Given the description of an element on the screen output the (x, y) to click on. 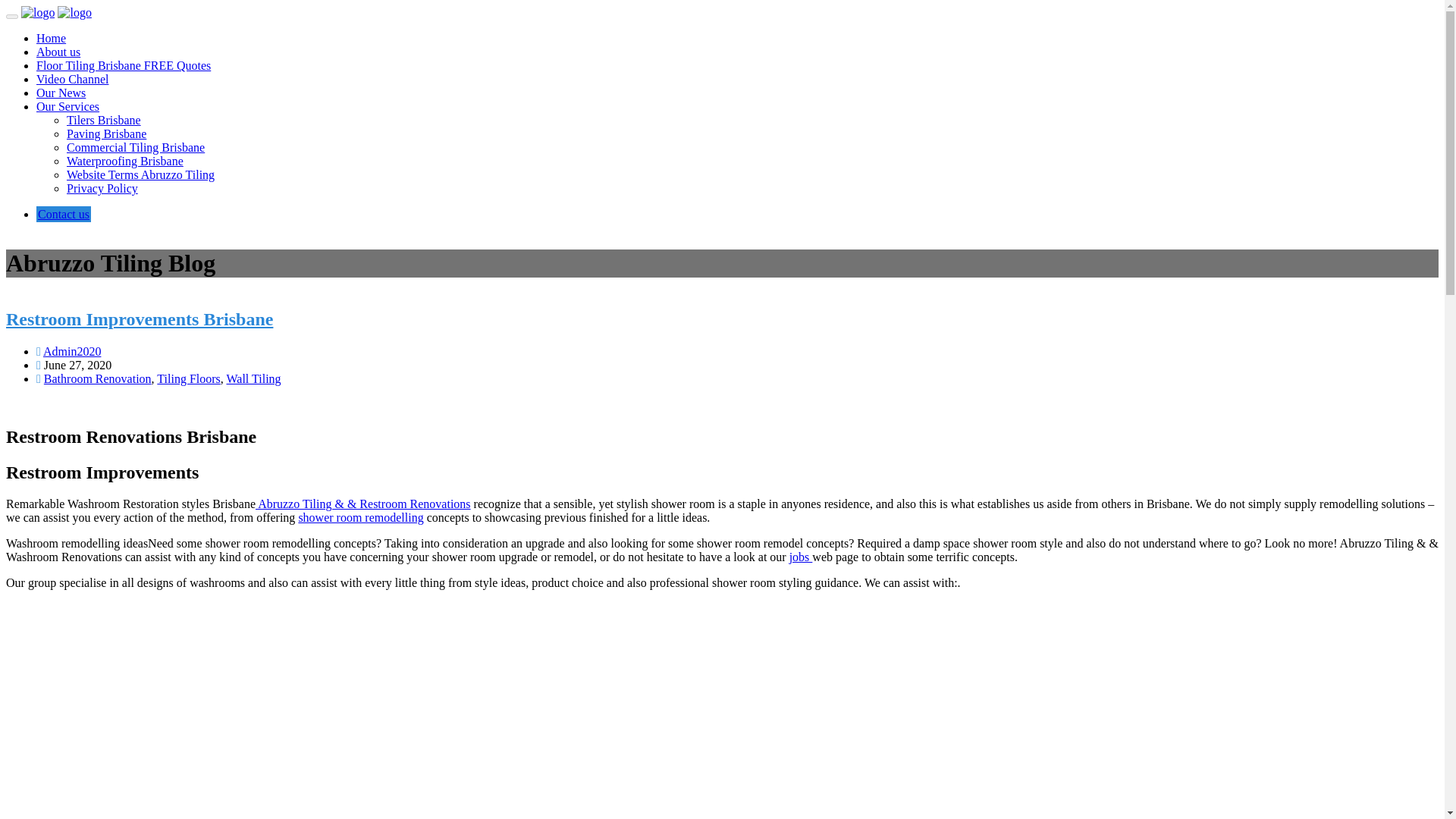
Paving Brisbane (106, 133)
Tiling Floors (188, 378)
Bathroom Renovation (97, 378)
Commercial Tiling Brisbane (135, 146)
Video Channel (71, 78)
Home (50, 38)
Our News (60, 92)
shower room remodelling (360, 517)
Toggle navigation (11, 16)
Restroom Improvements Brisbane (139, 319)
Privacy Policy (102, 187)
Website Terms Abruzzo Tiling (140, 174)
Floor Tiling Brisbane FREE Quotes (123, 65)
Wall Tiling (253, 378)
About us (58, 51)
